Given the description of an element on the screen output the (x, y) to click on. 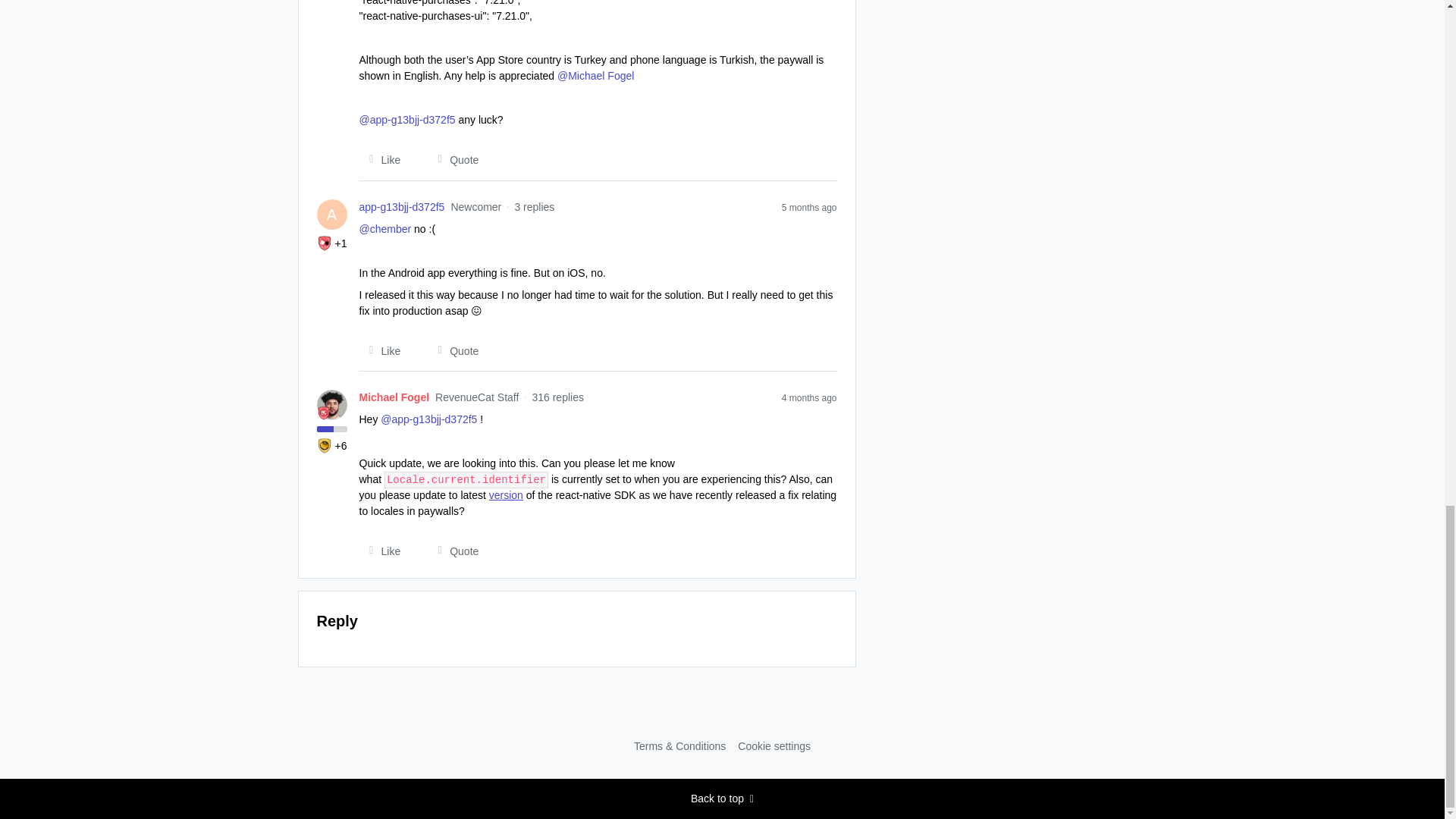
Quote (453, 159)
Top Banana (324, 445)
Like (380, 159)
A (332, 214)
RevenueCat Staff (323, 413)
Why Not Both? (324, 242)
Back to top (722, 798)
app-g13bjj-d372f5 (402, 207)
Visit Gainsight.com (722, 714)
Michael Fogel (394, 397)
app-g13bjj-d372f5 (402, 207)
